Given the description of an element on the screen output the (x, y) to click on. 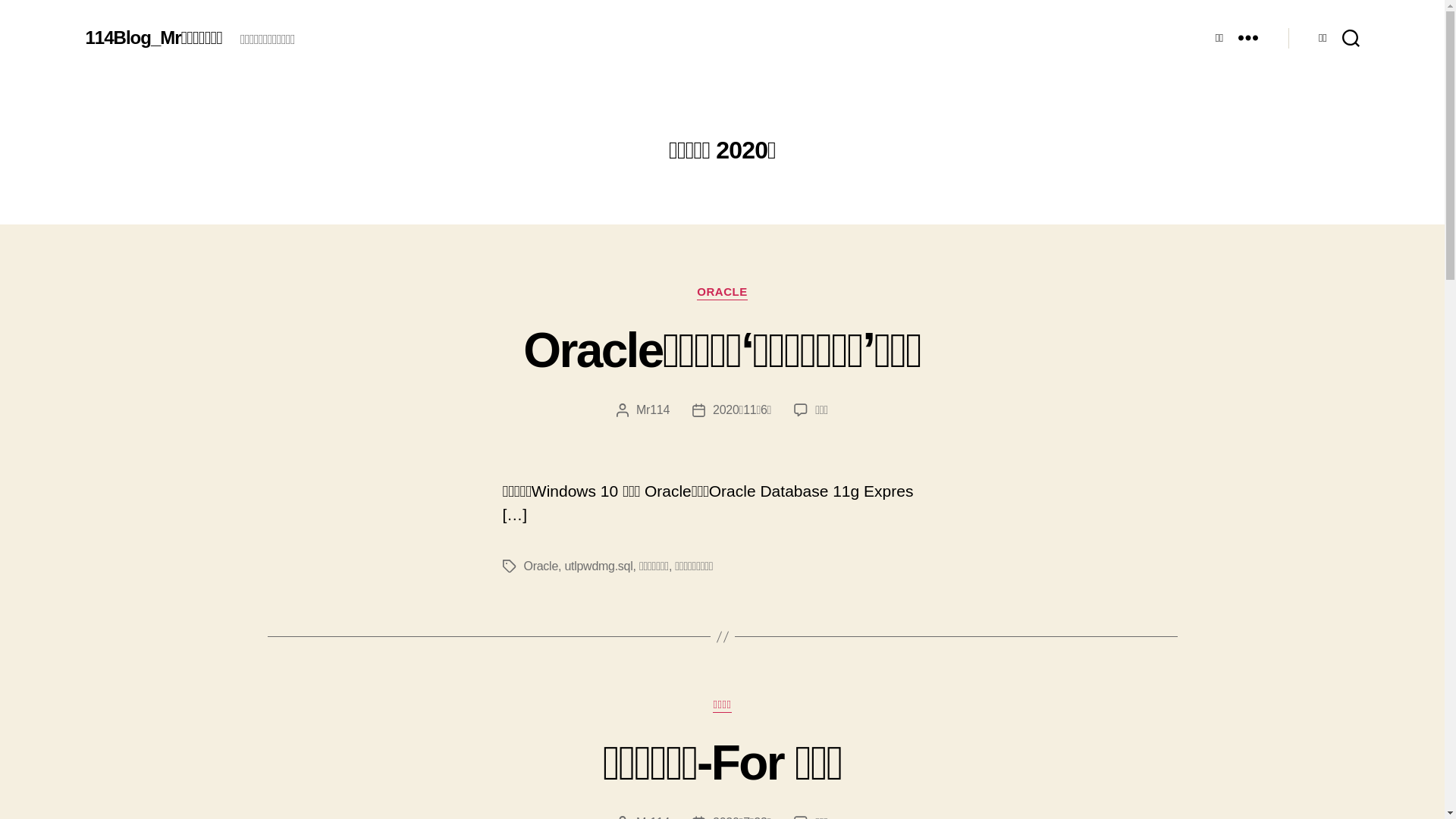
Mr114 Element type: text (652, 409)
Oracle Element type: text (540, 565)
ORACLE Element type: text (721, 292)
utlpwdmg.sql Element type: text (598, 565)
